Given the description of an element on the screen output the (x, y) to click on. 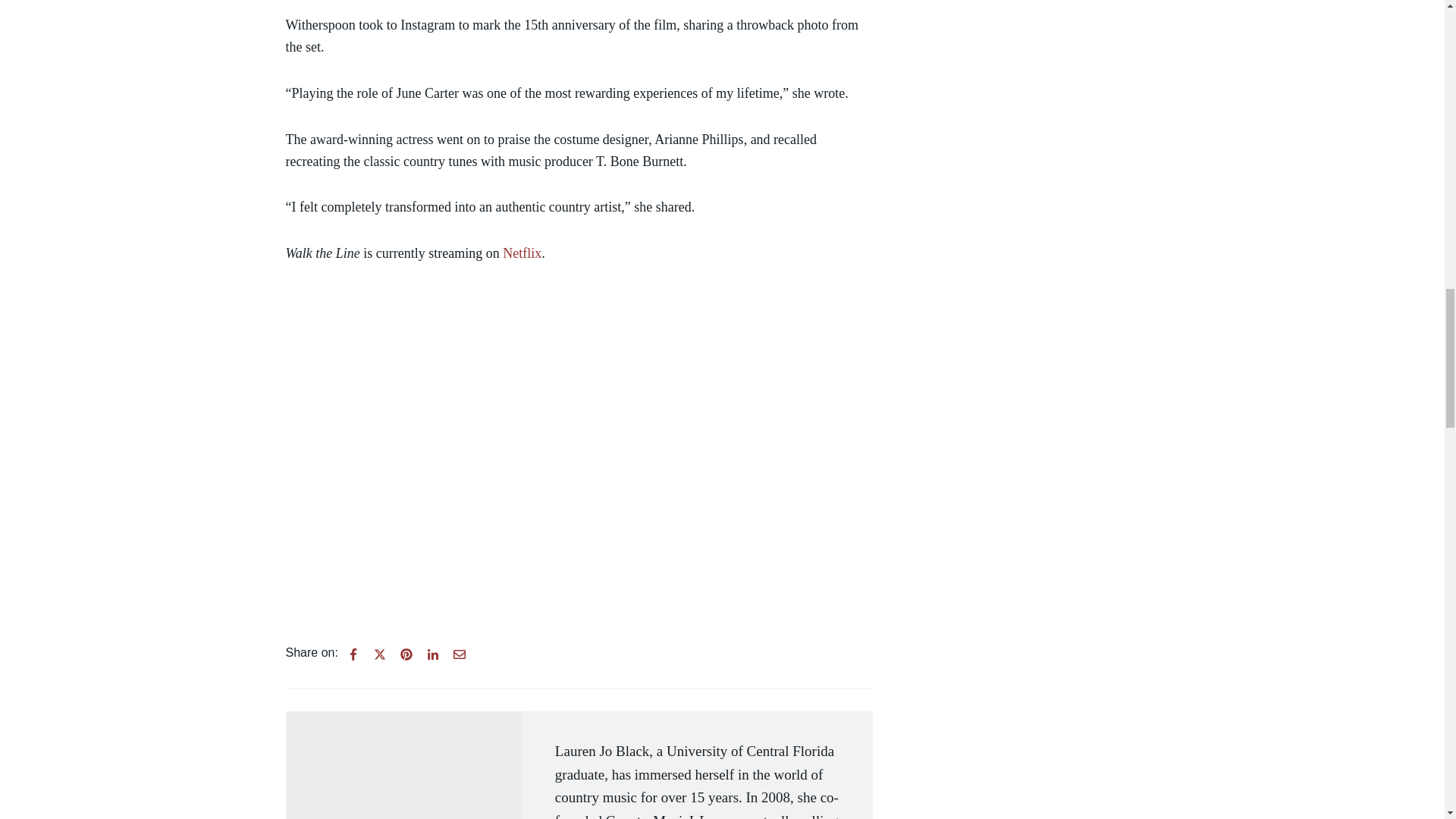
Netflix (521, 253)
